Given the description of an element on the screen output the (x, y) to click on. 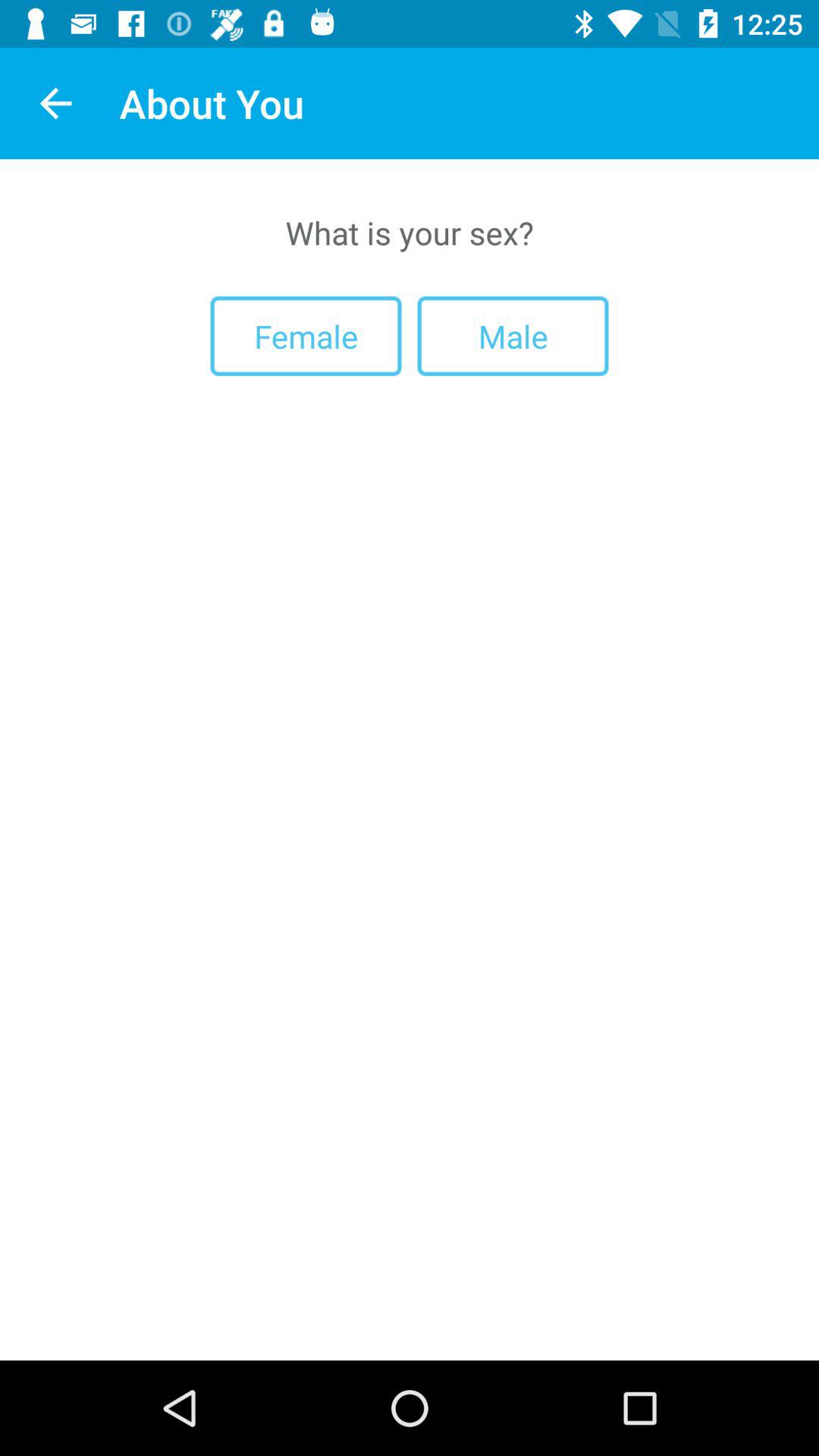
swipe to female item (305, 335)
